Given the description of an element on the screen output the (x, y) to click on. 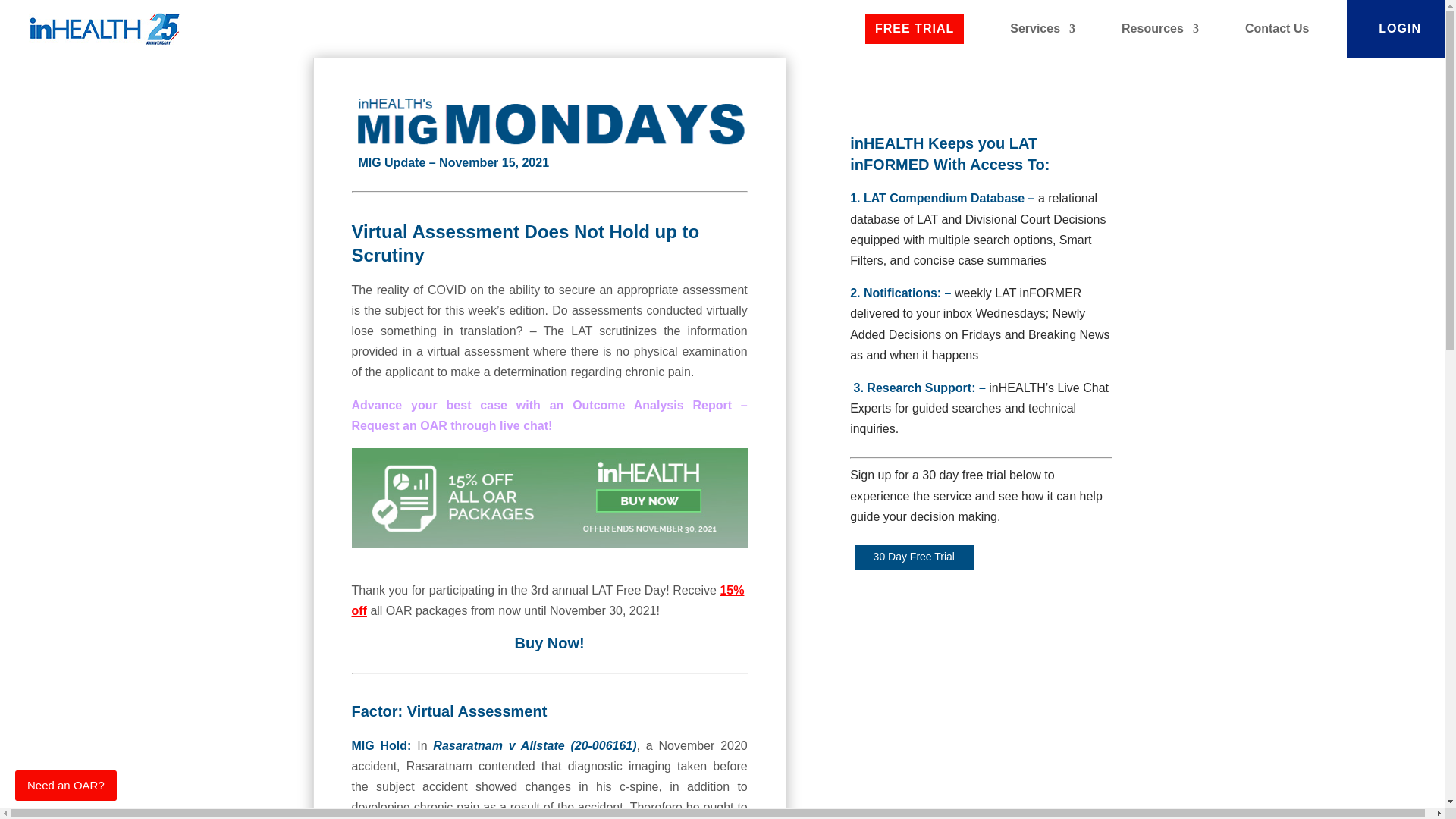
Services (1042, 28)
FREE TRIAL (913, 28)
Contact Us (1276, 28)
Buy Now! (548, 642)
Resources (1159, 28)
